Given the description of an element on the screen output the (x, y) to click on. 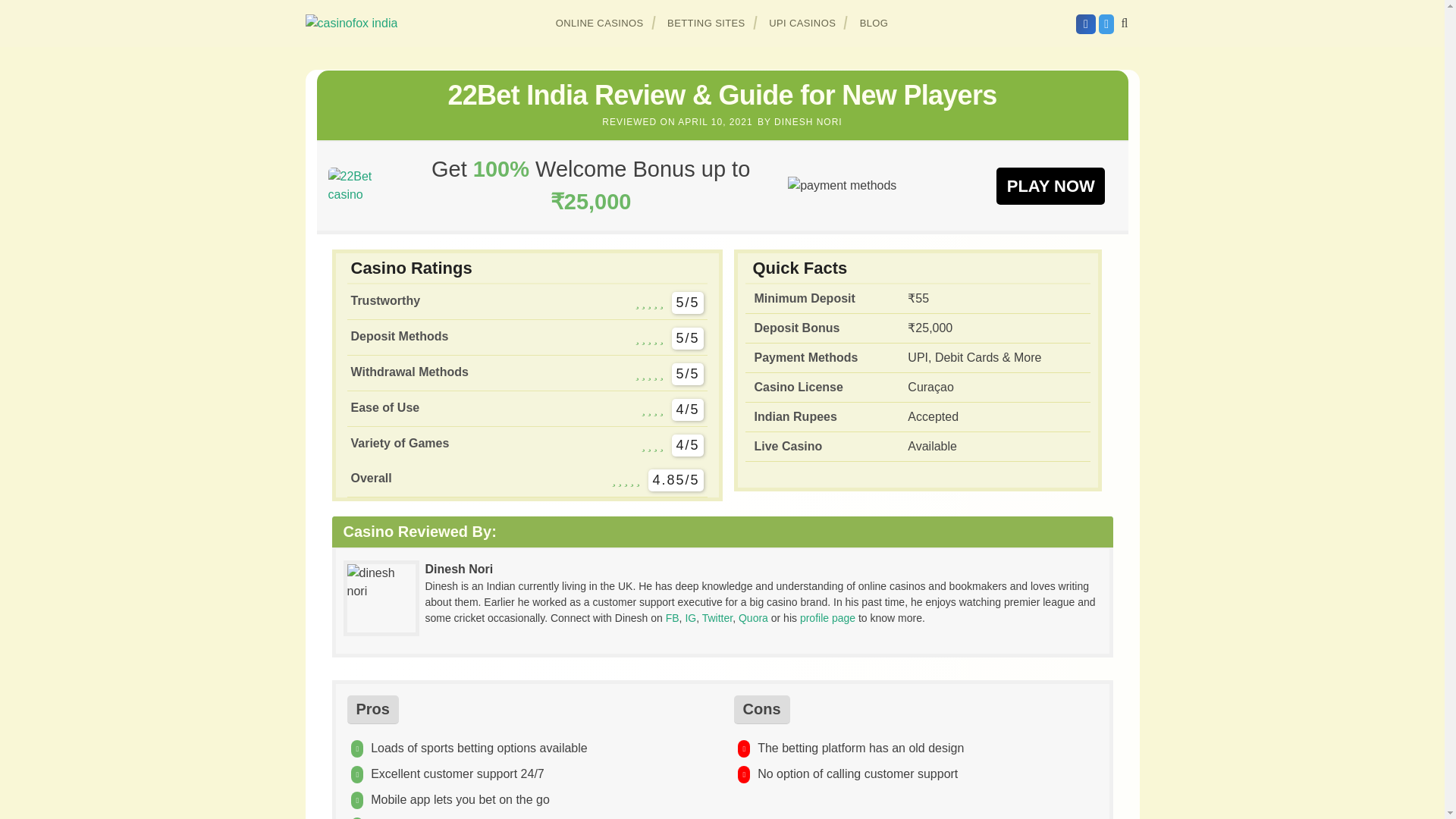
UPI CASINOS (801, 23)
Quora (753, 617)
BETTING SITES (706, 23)
profile page (827, 617)
PLAY NOW (1050, 185)
22Bet (1050, 185)
ONLINE CASINOS (599, 23)
FB (672, 617)
Twitter (716, 617)
BLOG (874, 23)
